Given the description of an element on the screen output the (x, y) to click on. 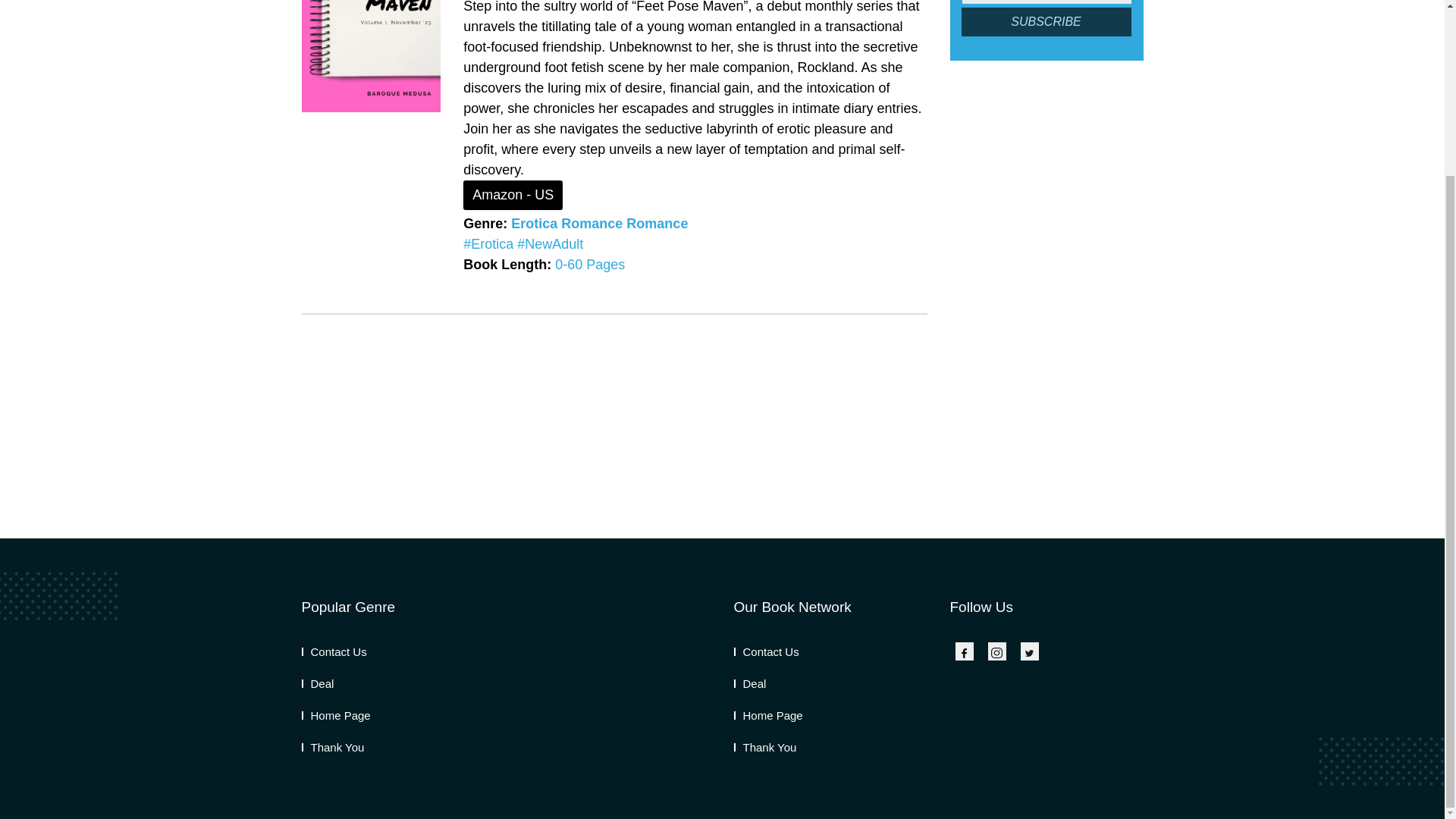
Contact Us (766, 651)
Home Page (336, 715)
Romance (656, 223)
Amazon - US (512, 194)
Deal (317, 683)
Thank You (764, 747)
Home Page (768, 715)
Erotica Romance (567, 223)
Deal (750, 683)
0-60 Pages (589, 264)
Thank You (333, 747)
Subscribe (1045, 21)
Advertisement (1045, 310)
Contact Us (333, 651)
Subscribe (1045, 21)
